Given the description of an element on the screen output the (x, y) to click on. 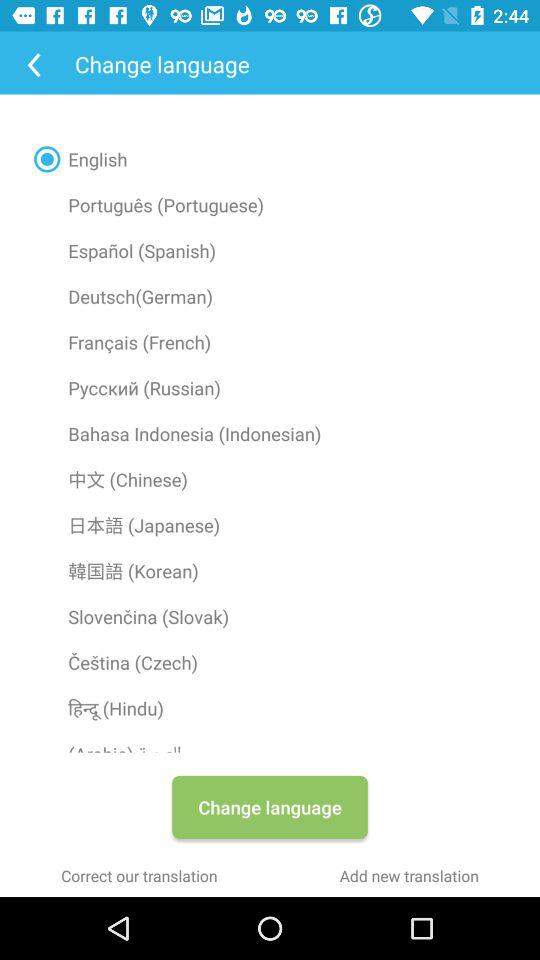
jump to the correct our translation app (139, 875)
